Given the description of an element on the screen output the (x, y) to click on. 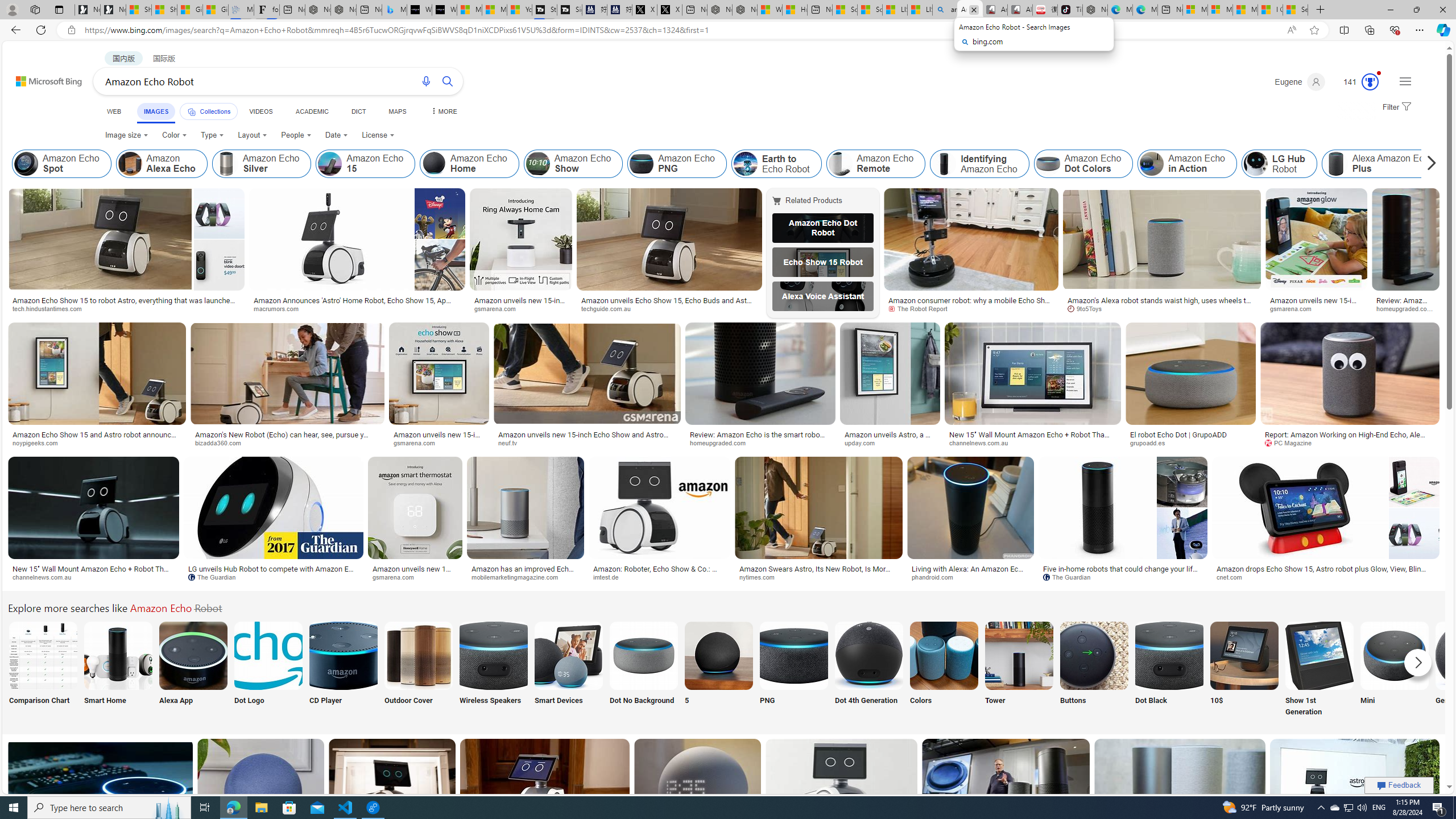
Amazon Echo Show (573, 163)
upday.com (863, 442)
Amazon Echo Comparison Chart (42, 654)
Amazon Echo 10 (1243, 654)
Microsoft Rewards 141 (1356, 81)
Tower (1018, 669)
Echo Show 15 Robot (822, 261)
Amazon Echo Smart Home (118, 654)
